Given the description of an element on the screen output the (x, y) to click on. 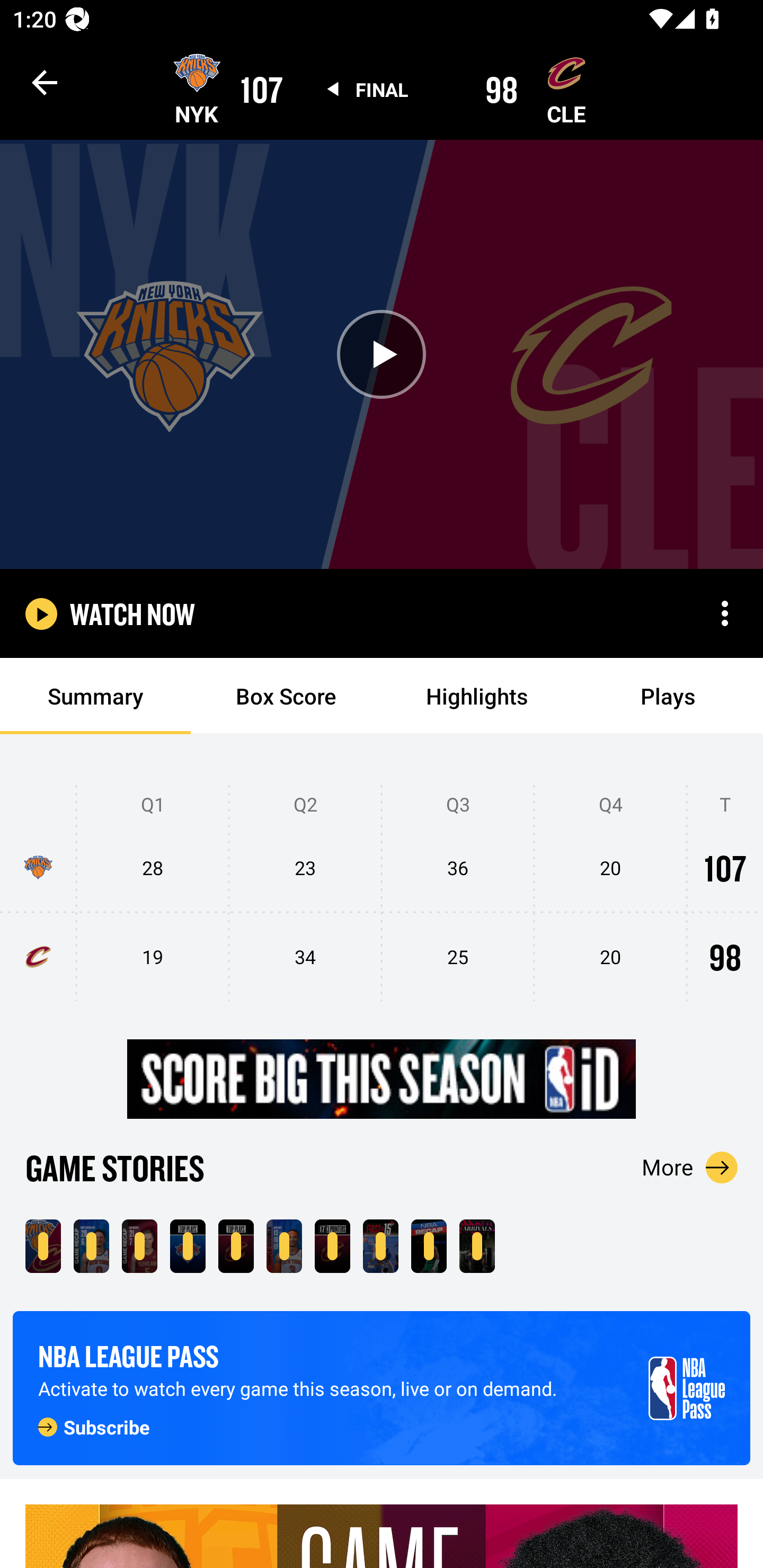
Navigate up (44, 82)
More options (724, 613)
WATCH NOW (132, 613)
Box Score (285, 695)
Highlights (476, 695)
Plays (667, 695)
Q1 Q2 Q3 Q4 T 28 23 36 20 107 19 34 25 20 98 (381, 893)
More (689, 1166)
NEW NYK 107, CLE 98 - Mar 3 (43, 1246)
NEW Highlights From Sam Merrill's 21-Point Game (139, 1246)
NEW NYK's Top Plays from NYK vs. CLE (187, 1246)
NEW CLE's Top Plays from NYK vs. CLE (236, 1246)
Highlights from Josh Hart's Triple-Double NEW (284, 1246)
All 3-pointers from CLE's 17 3-pointer Night NEW (332, 1246)
First To 15, Mar. 3rd NEW (380, 1246)
Sunday's Recap NEW (428, 1246)
Steppin' Into Sunday 🔥 NEW (477, 1246)
